Given the description of an element on the screen output the (x, y) to click on. 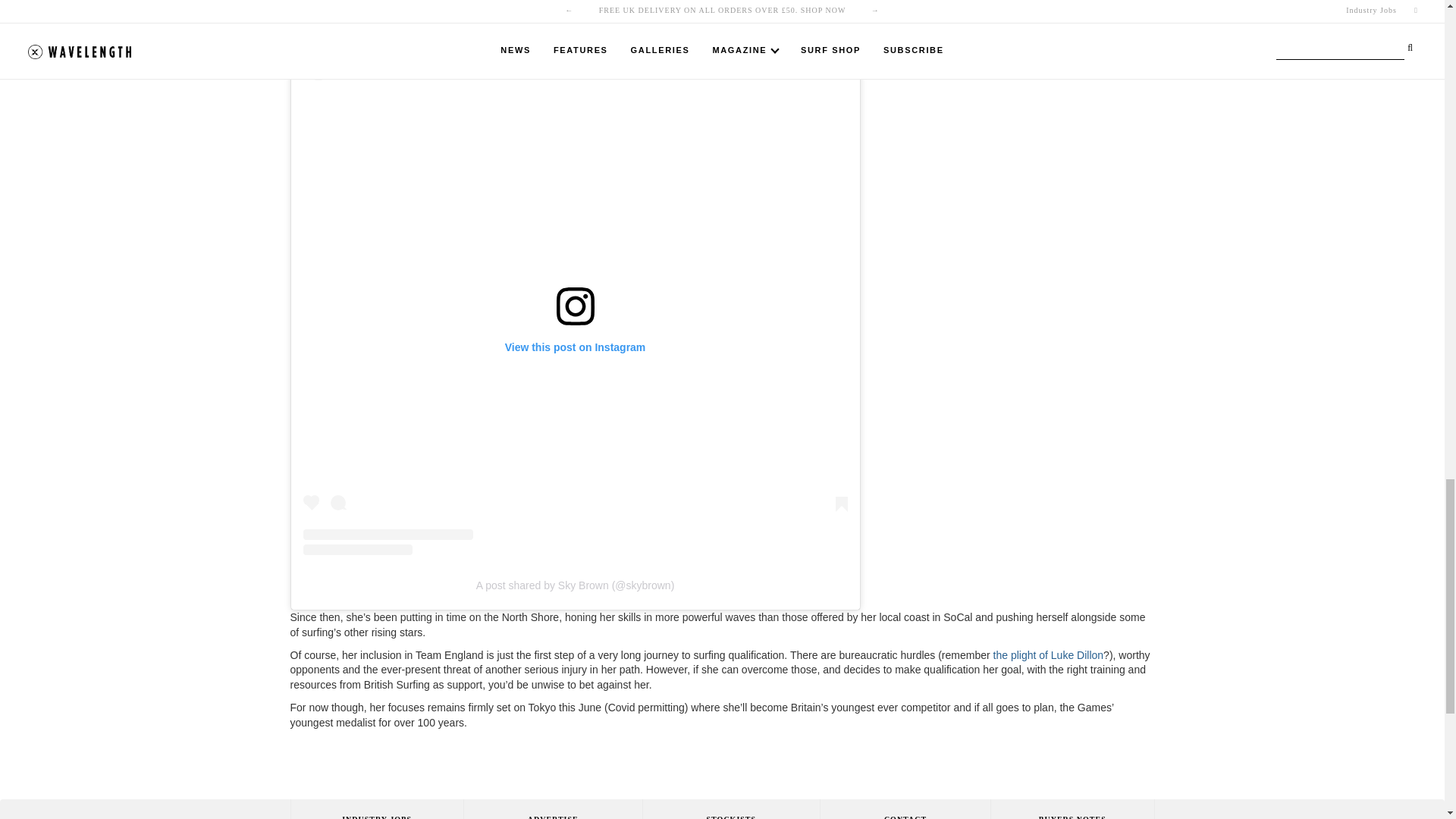
CONTACT (904, 809)
ADVERTISE (552, 809)
Advertise (552, 809)
Contact (904, 809)
STOCKISTS (730, 809)
Stockists (730, 809)
BUYERS NOTES (1072, 809)
Buyers Notes (1072, 809)
INDUSTRY JOBS (376, 809)
the plight of Luke Dillon (1047, 654)
Industry Jobs (376, 809)
